Given the description of an element on the screen output the (x, y) to click on. 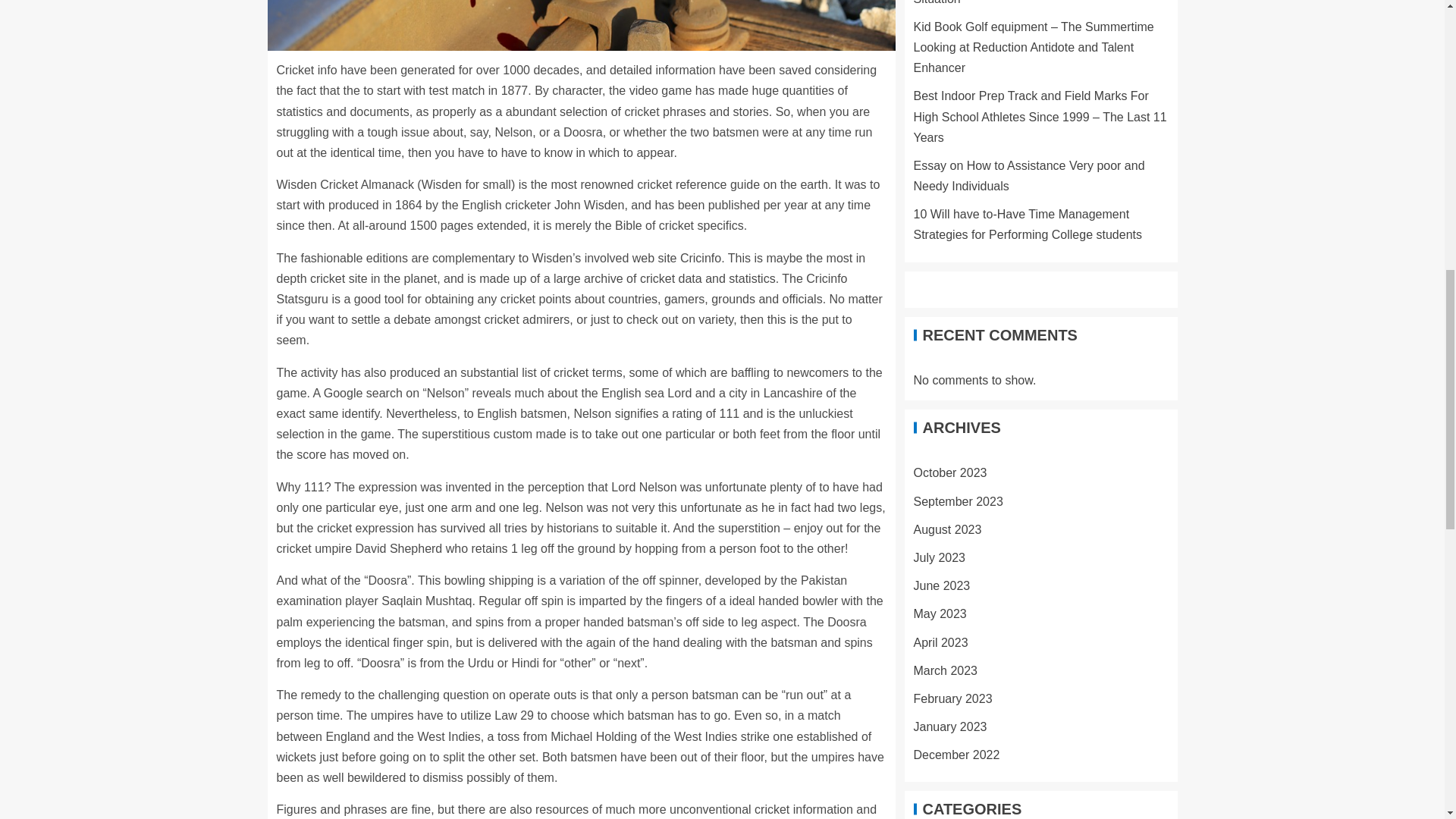
Seedbacklink (976, 809)
